Given the description of an element on the screen output the (x, y) to click on. 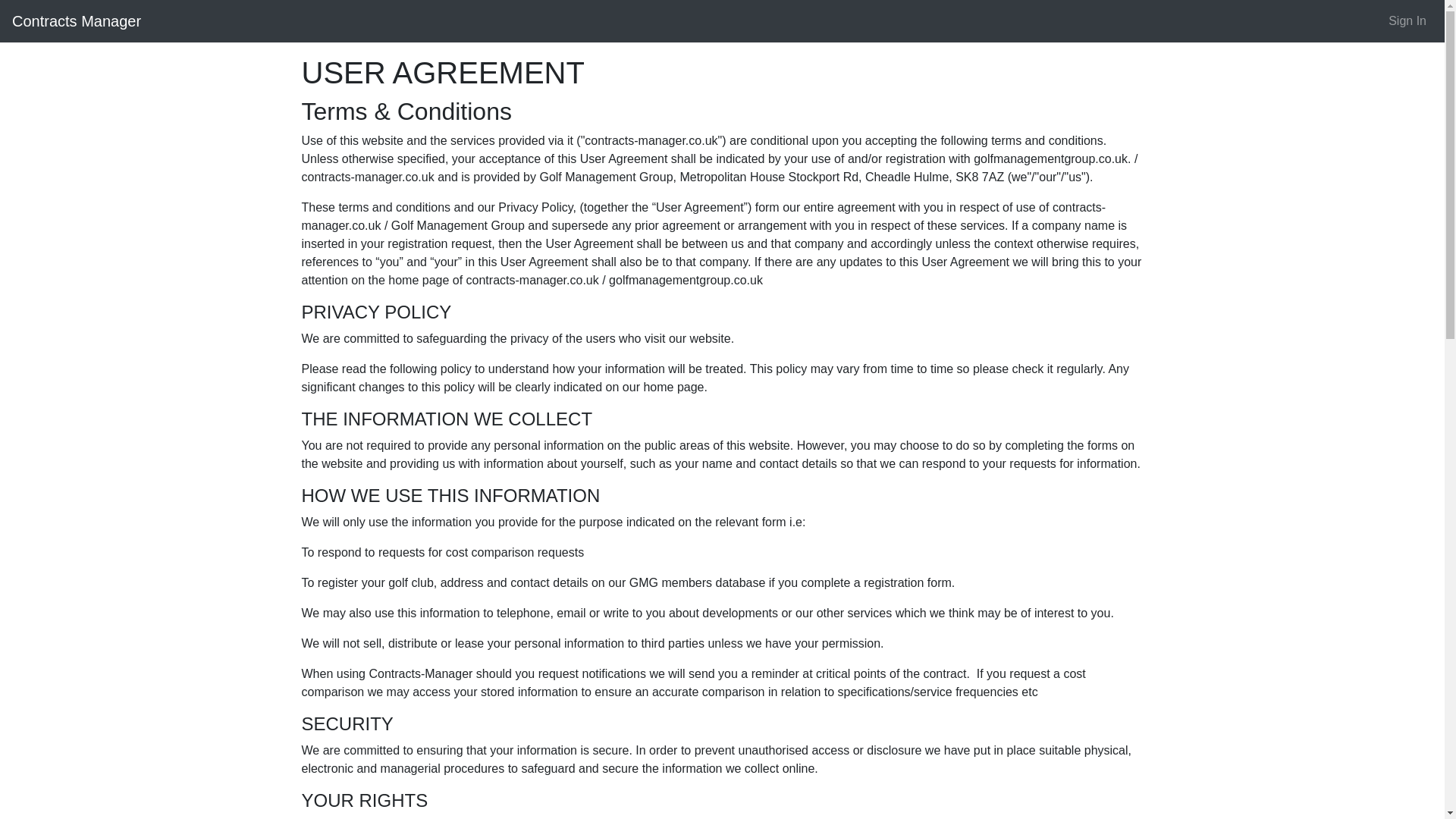
Sign In (1406, 20)
Contracts Manager (76, 20)
